Given the description of an element on the screen output the (x, y) to click on. 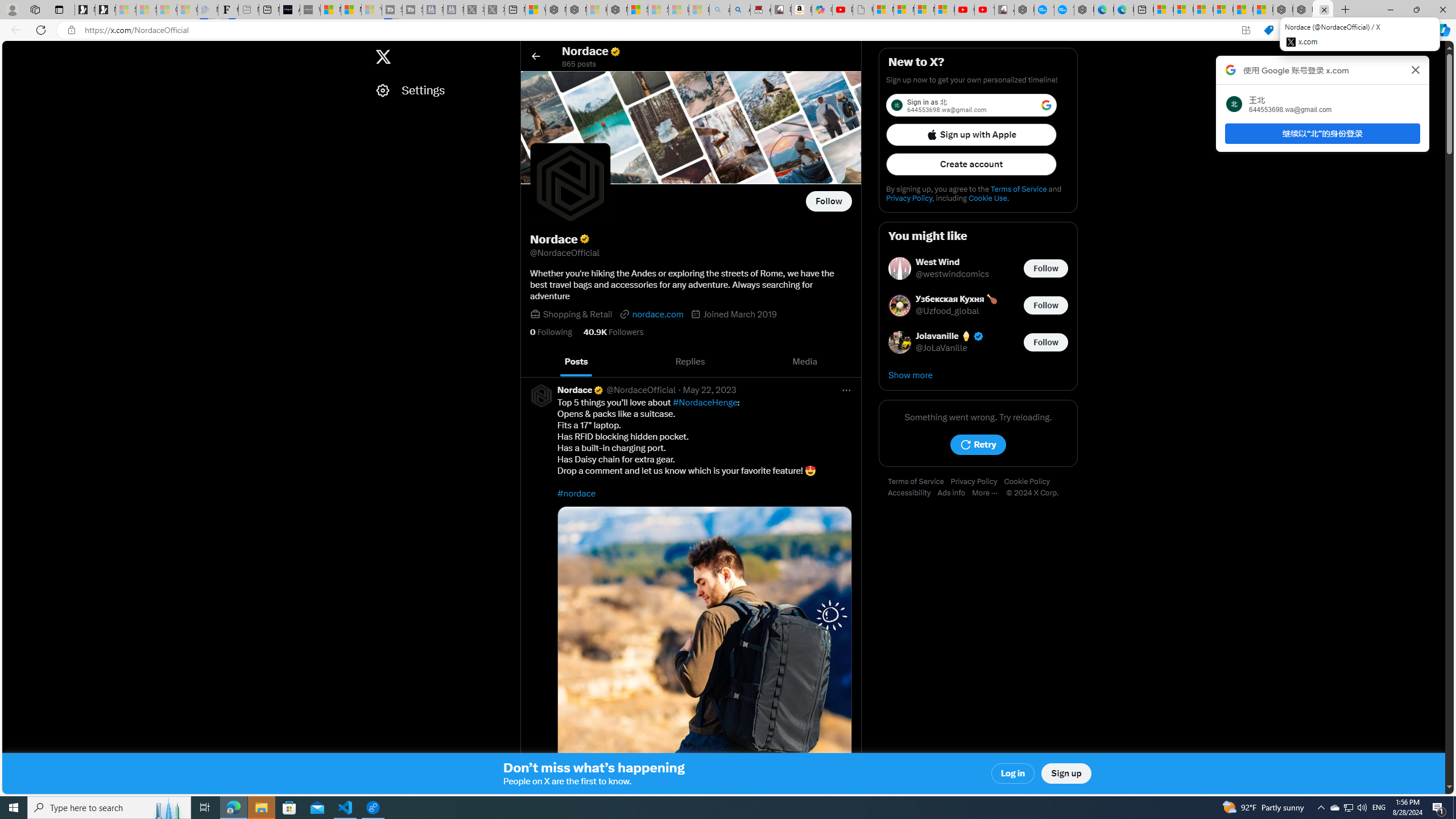
YouTube Kids - An App Created for Kids to Explore Content (983, 9)
Privacy Policy (977, 481)
May 22, 2023 (709, 389)
Sign up (1066, 773)
AI Voice Changer for PC and Mac - Voice.ai (289, 9)
Cookie Policy (1030, 481)
Image (704, 653)
Nordace (@NordaceOfficial) / X (1322, 9)
